Given the description of an element on the screen output the (x, y) to click on. 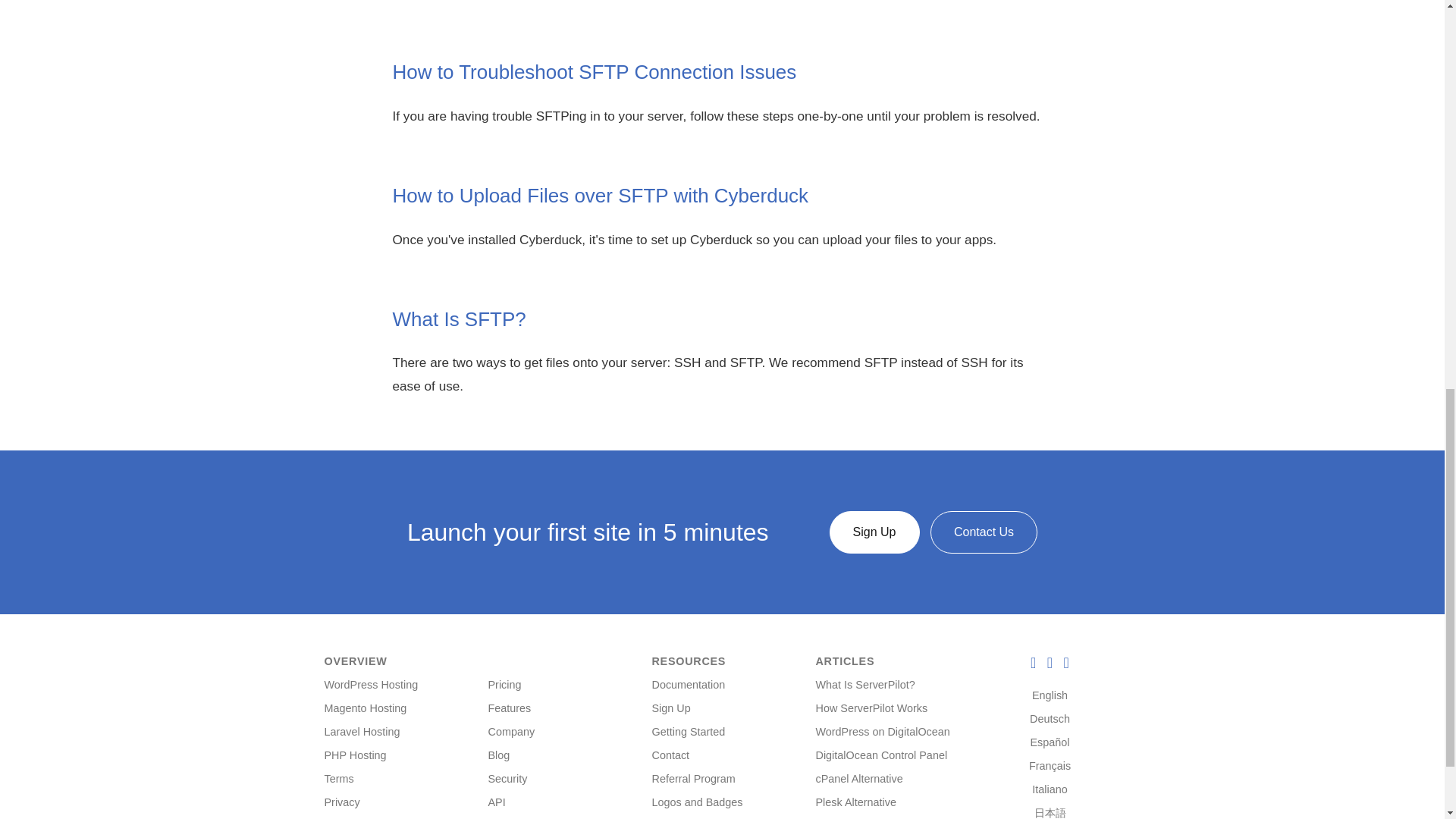
Getting Started (688, 731)
Logos and Badges (697, 802)
Laravel Hosting (362, 731)
How to Upload Files over SFTP with Cyberduck (601, 195)
Sign Up (671, 707)
Security (507, 778)
Company (511, 731)
Sign Up (874, 532)
Contact Us (983, 532)
Blog (499, 755)
WordPress Hosting (371, 684)
How to Troubleshoot SFTP Connection Issues (594, 71)
Pricing (504, 684)
Contact (671, 755)
Features (509, 707)
